Given the description of an element on the screen output the (x, y) to click on. 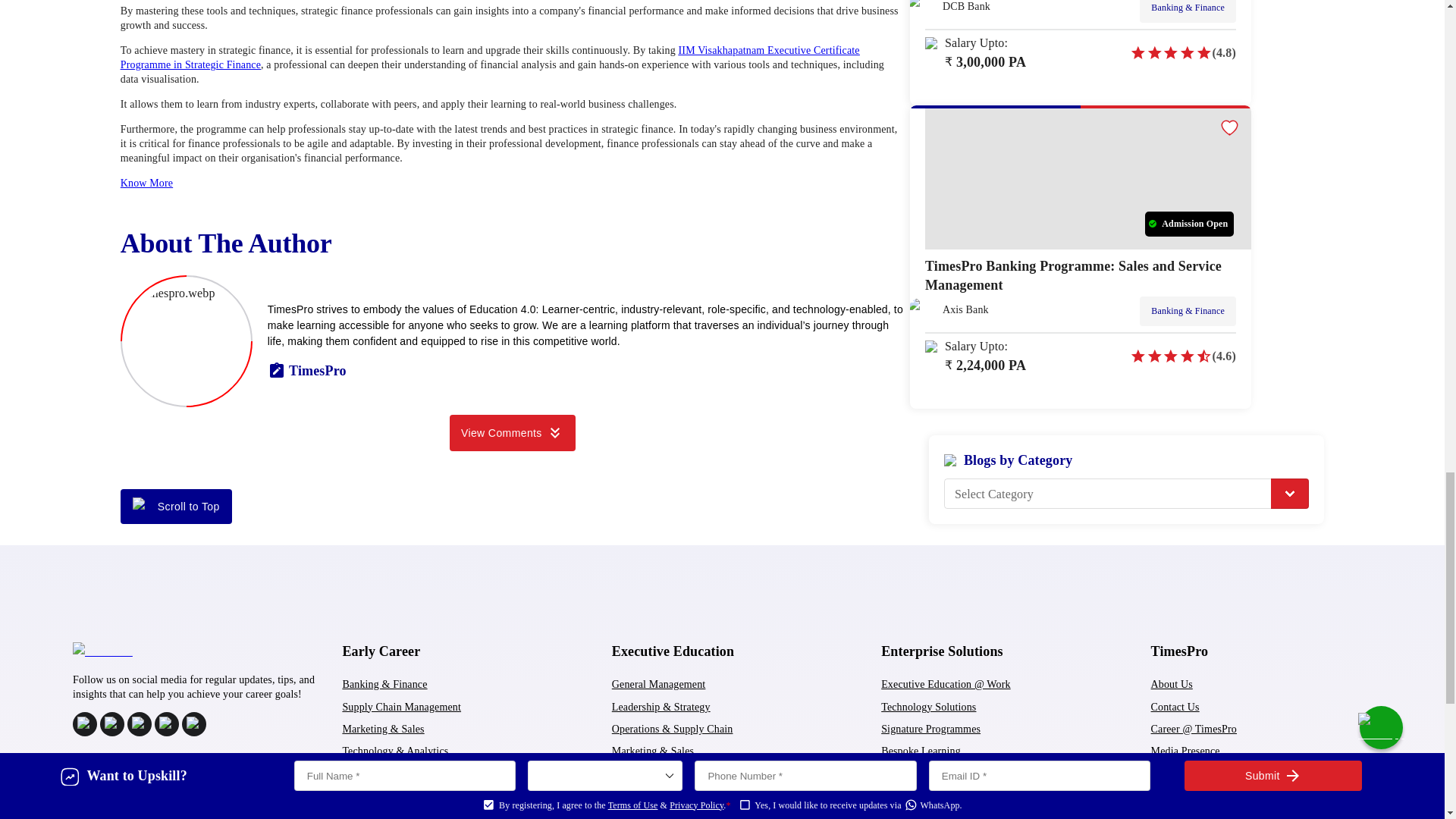
Human Resources (651, 773)
Supply Chain Management (401, 706)
Scroll to Top (175, 506)
Know More (146, 183)
View Comments (512, 432)
General Management (658, 684)
Hospitality (366, 795)
Healthcare (365, 773)
